Given the description of an element on the screen output the (x, y) to click on. 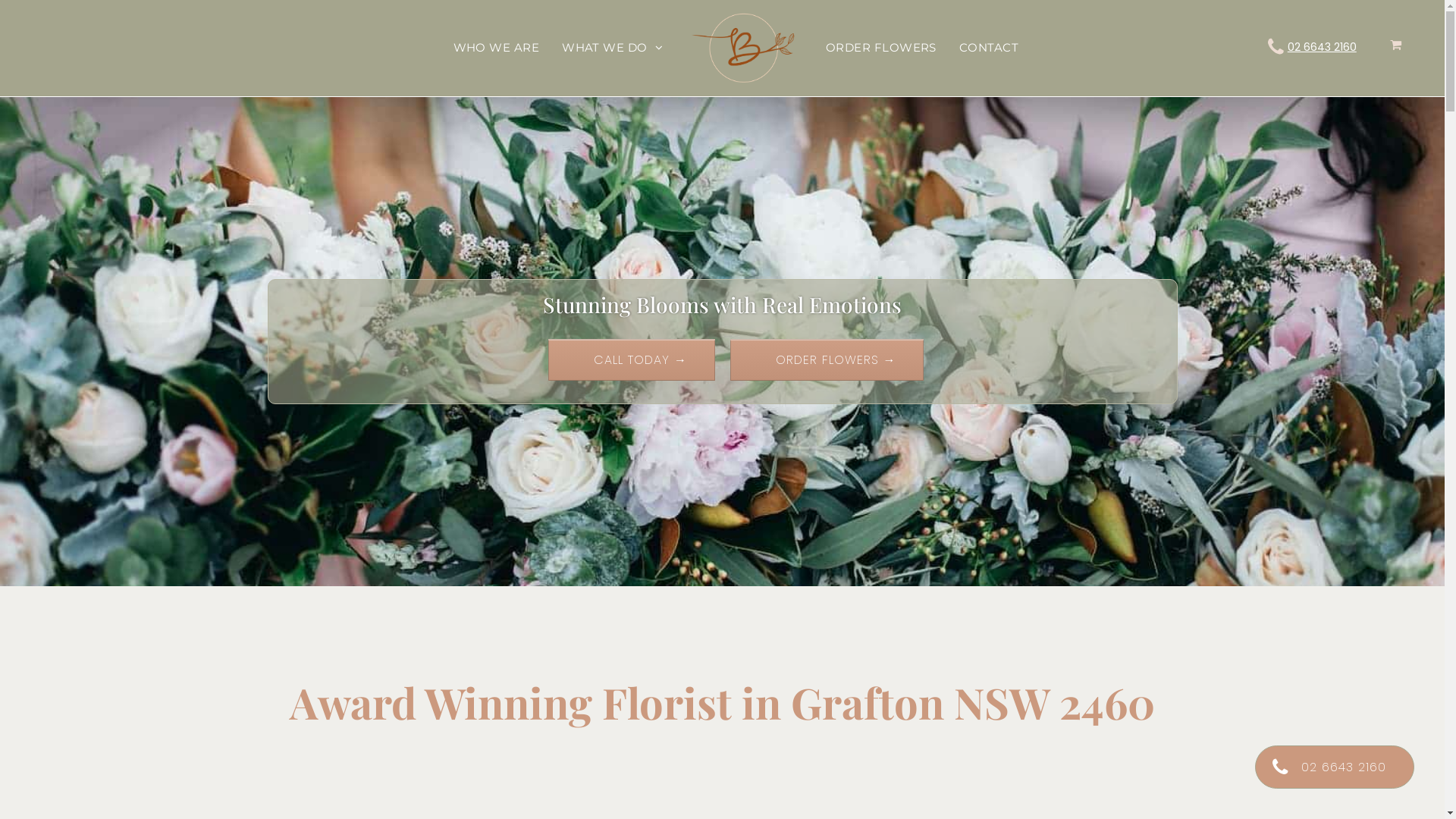
WHO WE ARE Element type: text (496, 47)
ORDER FLOWERS Element type: text (880, 47)
WHAT WE DO Element type: text (612, 47)
02 6643 2160 Element type: text (1334, 766)
02 6643 2160 Element type: text (1321, 46)
CONTACT Element type: text (988, 47)
